Given the description of an element on the screen output the (x, y) to click on. 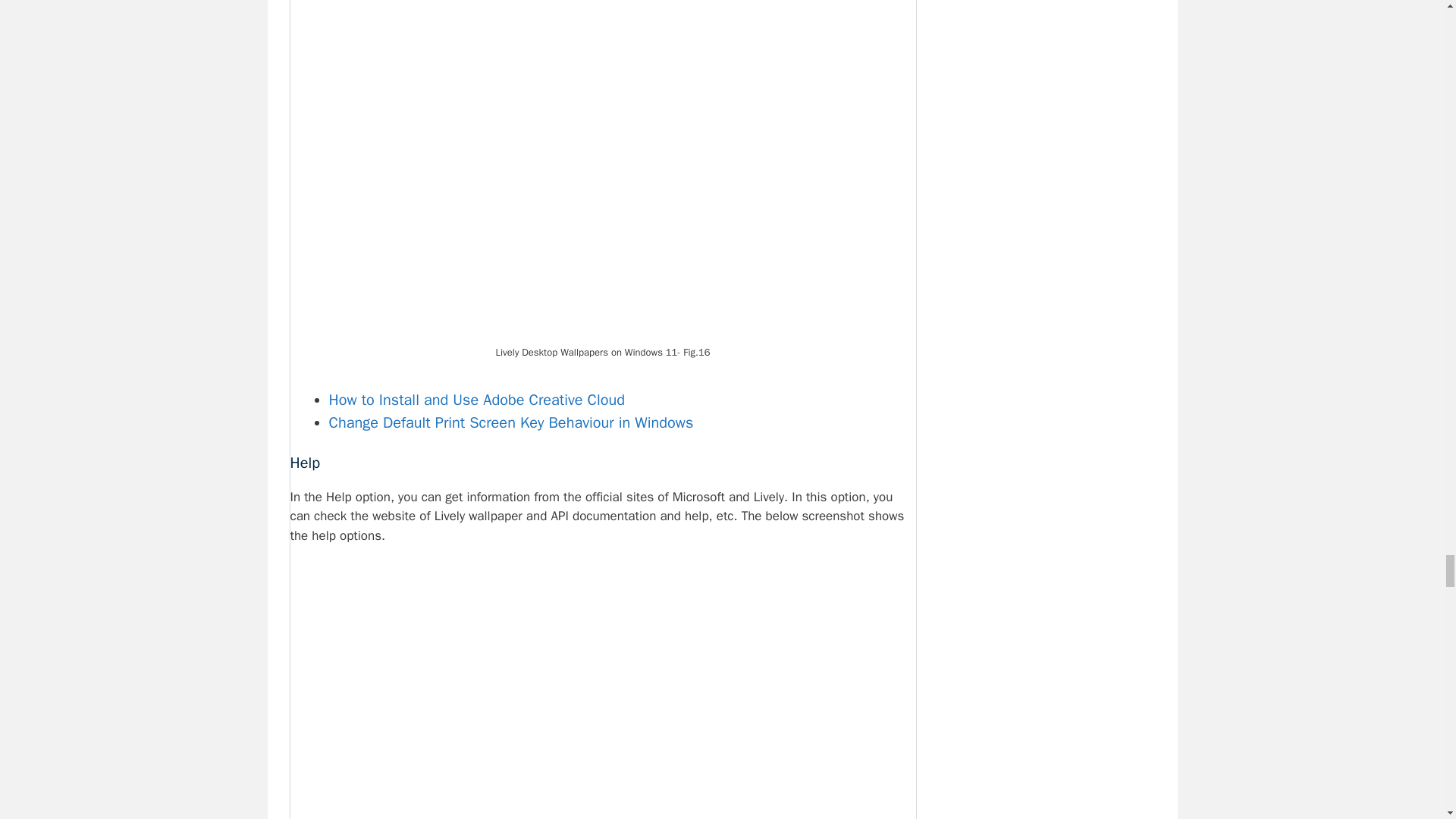
How to Install and Use Adobe Creative Cloud (477, 399)
Change Default Print Screen Key Behaviour in Windows (511, 422)
